Given the description of an element on the screen output the (x, y) to click on. 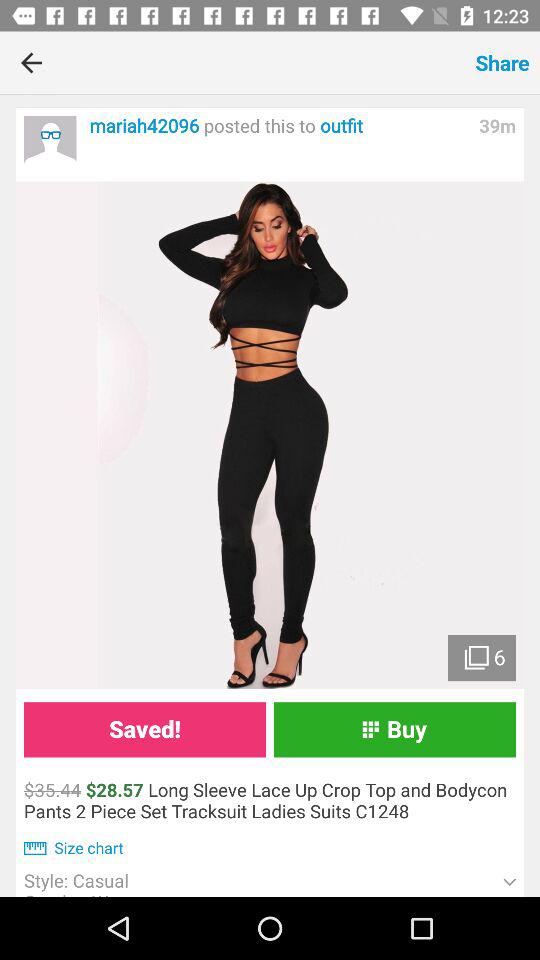
open the icon to the left of 39m item (278, 126)
